Given the description of an element on the screen output the (x, y) to click on. 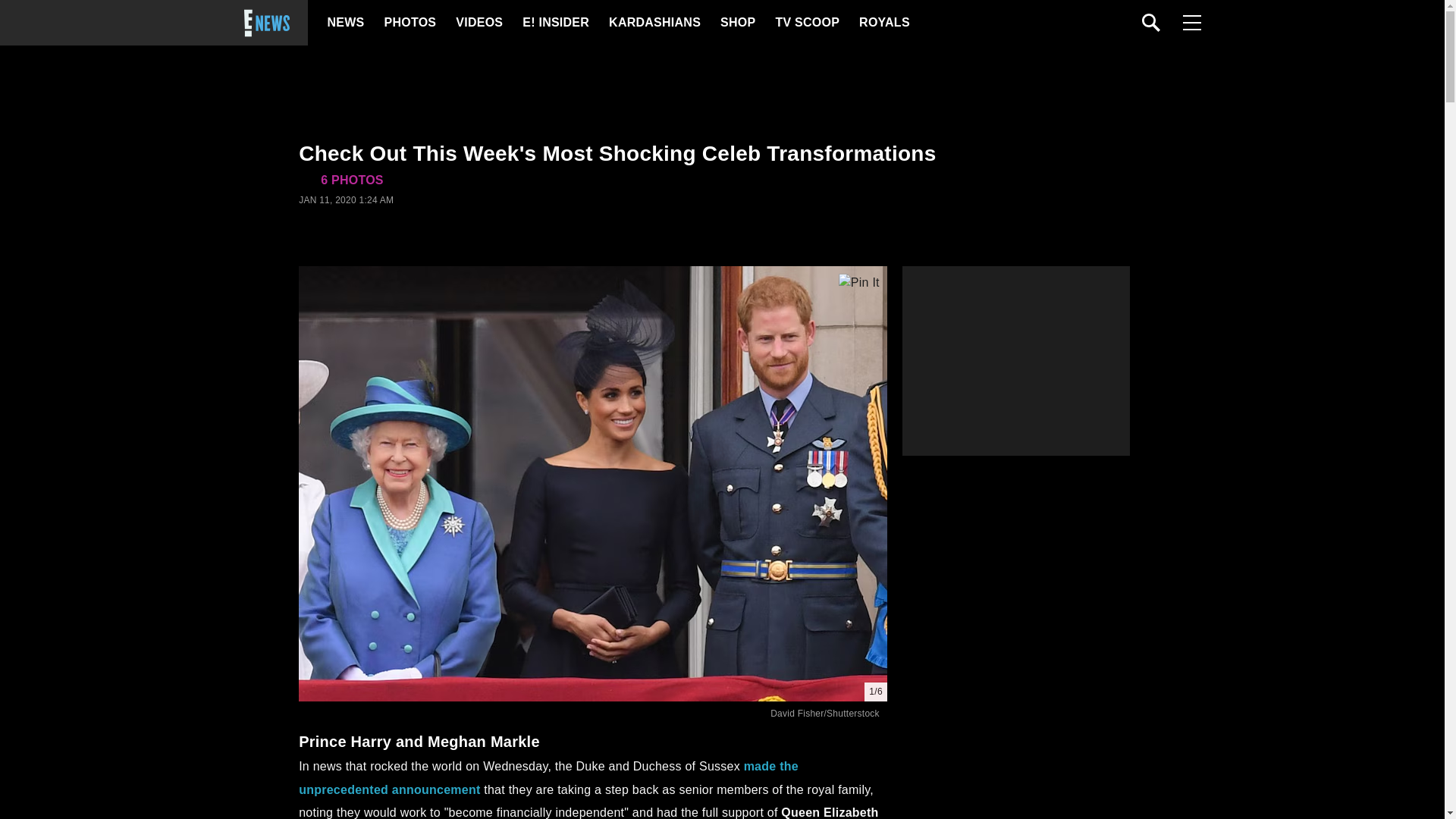
VIDEOS (478, 22)
NEWS (345, 22)
KARDASHIANS (653, 22)
made the unprecedented announcement (547, 777)
PHOTOS (408, 22)
E! INSIDER (555, 22)
SHOP (737, 22)
ROYALS (883, 22)
TV SCOOP (806, 22)
